Given the description of an element on the screen output the (x, y) to click on. 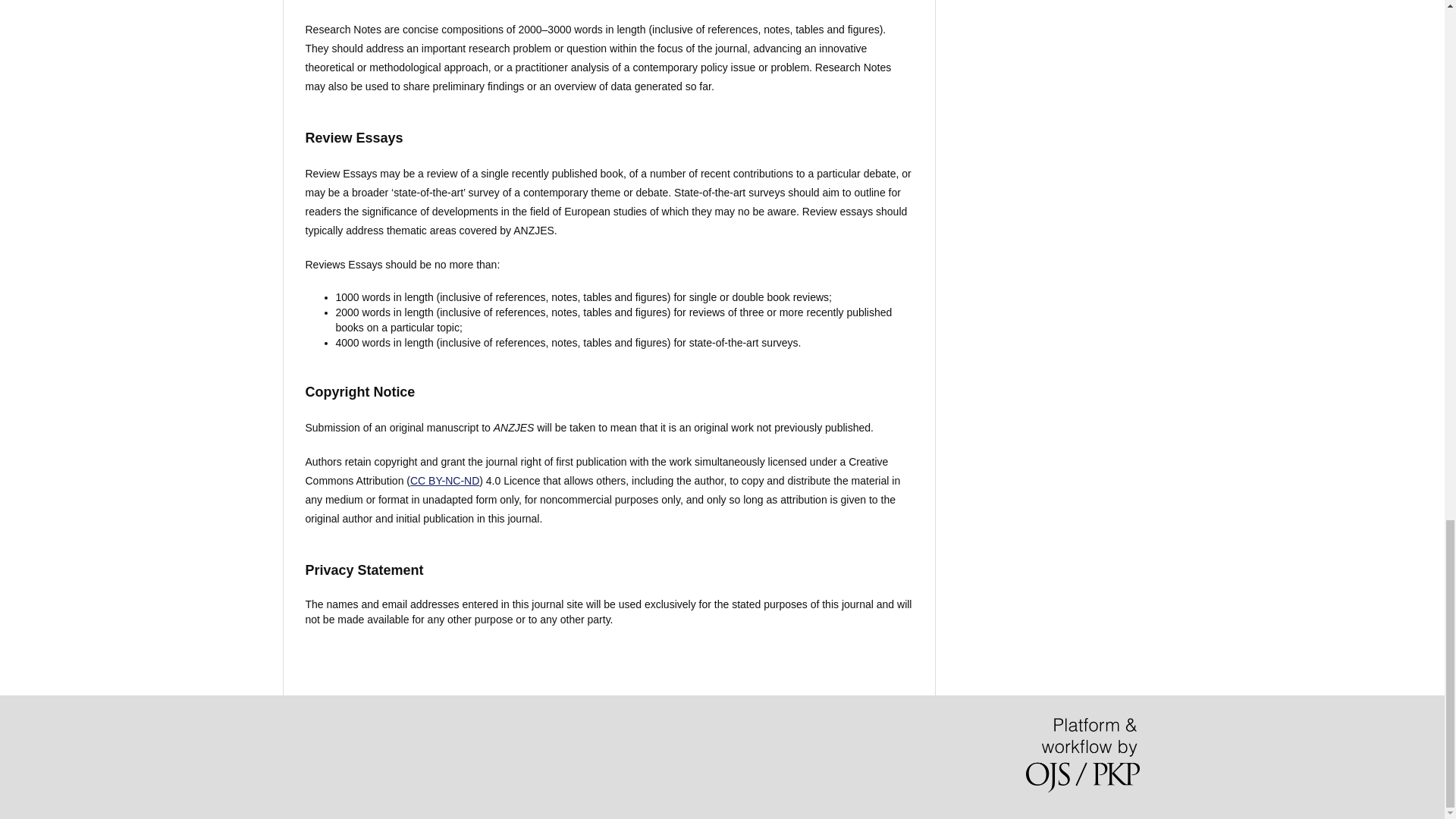
CC BY-NC-ND (444, 480)
